Given the description of an element on the screen output the (x, y) to click on. 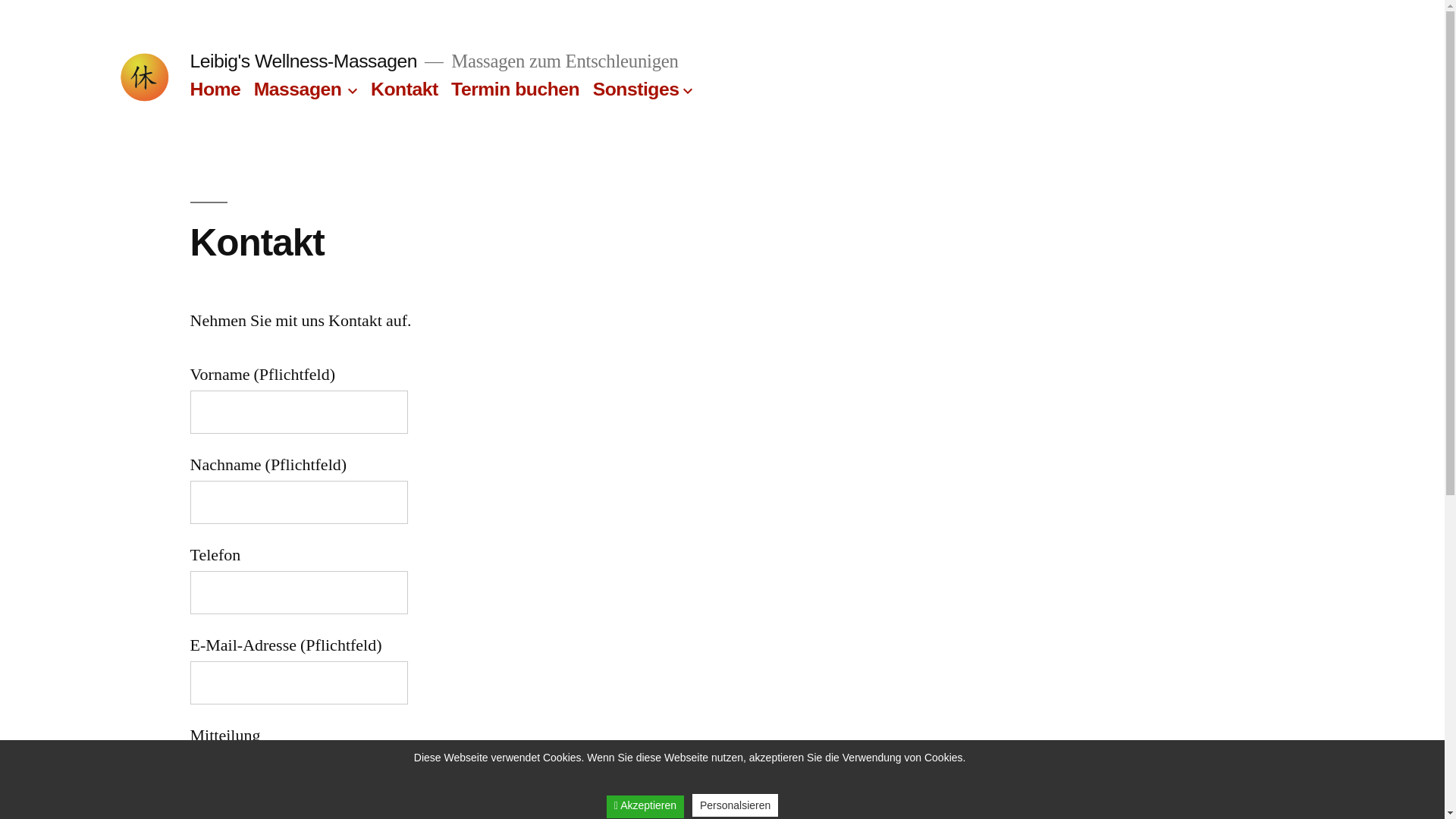
Leibig's Wellness-Massagen Element type: text (303, 60)
Personalsieren Element type: text (735, 804)
Sonstiges Element type: text (636, 88)
Home Element type: text (214, 88)
Kontakt Element type: text (404, 88)
Termin buchen Element type: text (515, 88)
Massagen Element type: text (298, 88)
